Given the description of an element on the screen output the (x, y) to click on. 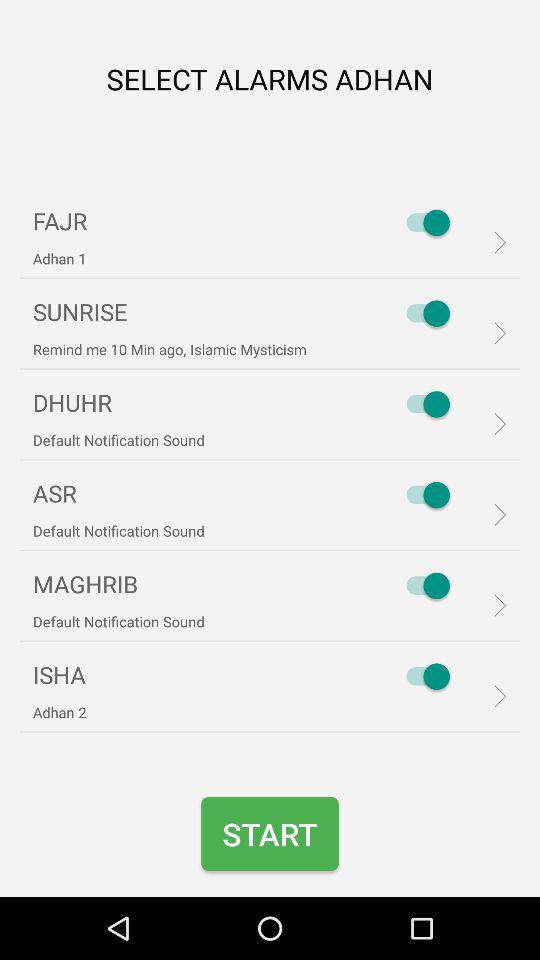
toggle asr on off (423, 495)
